Given the description of an element on the screen output the (x, y) to click on. 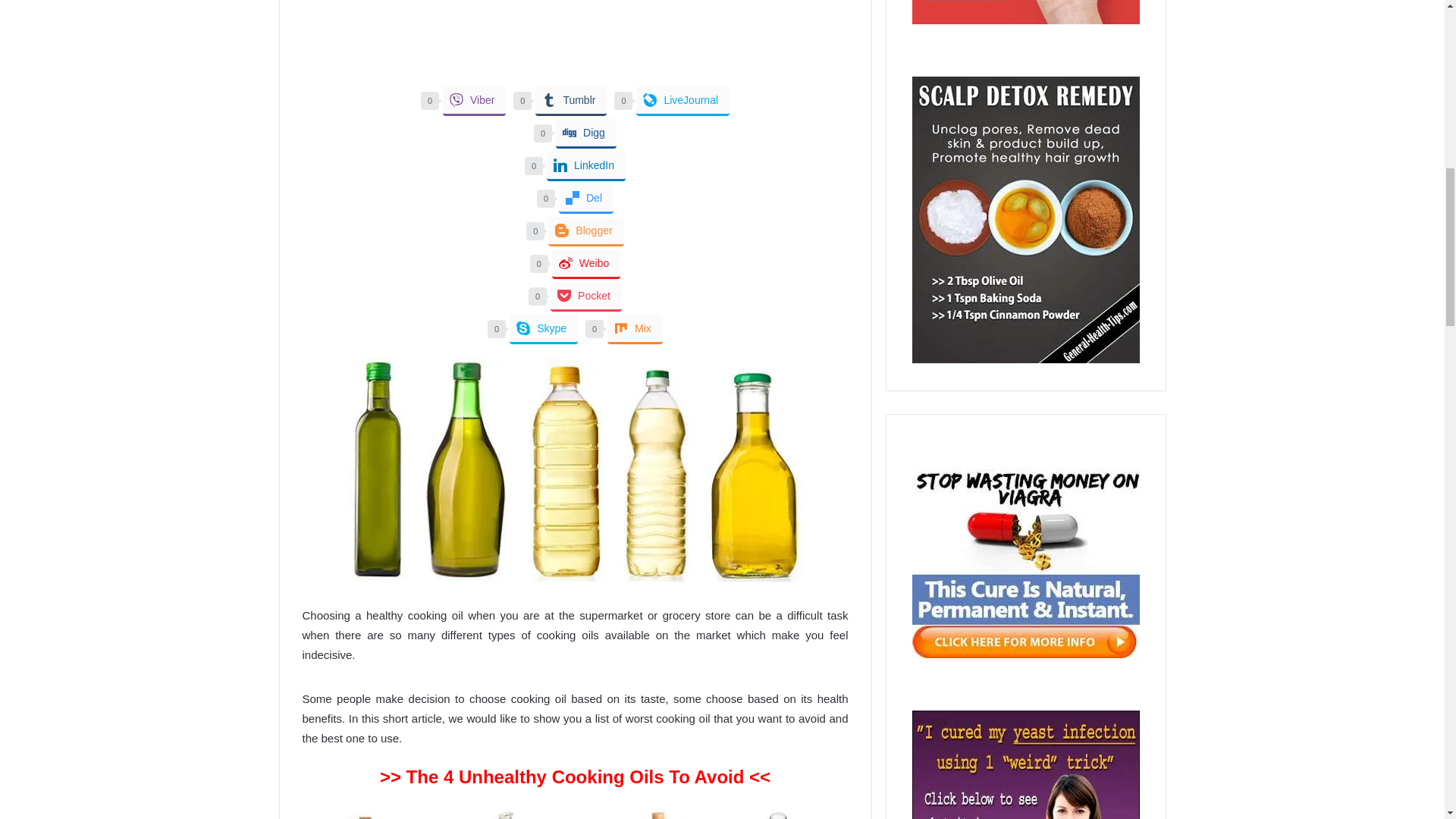
Advertisement (574, 42)
Share on LinkedIn (586, 165)
Share on LiveJournal (682, 101)
Share on Tumblr (571, 101)
Share on Digg (585, 133)
Share on Viber (473, 101)
